Given the description of an element on the screen output the (x, y) to click on. 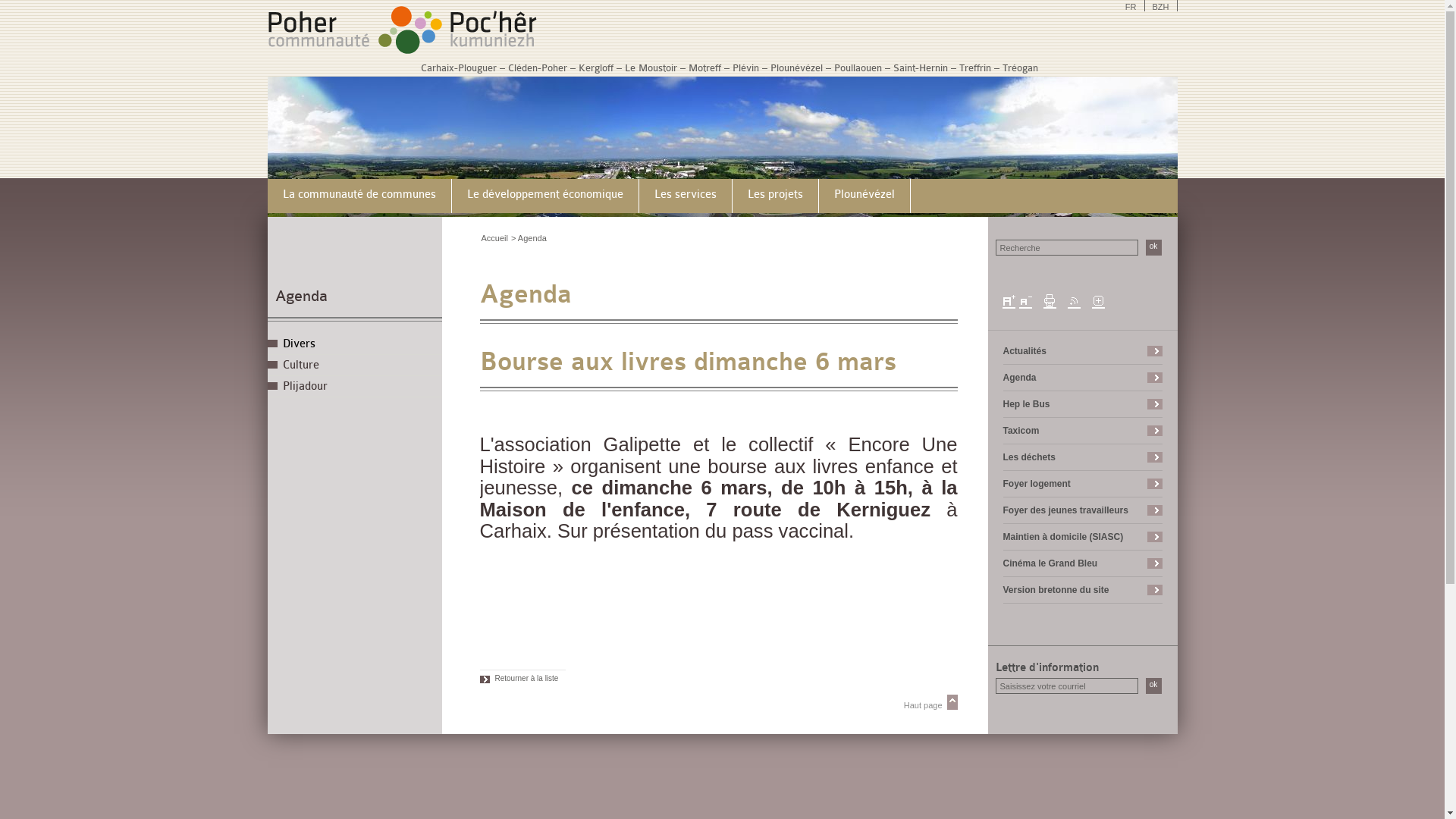
BZH Element type: text (1161, 5)
Recherche Element type: hover (1065, 247)
Saint-Hernin Element type: text (920, 67)
Le Moustoir Element type: text (650, 67)
S'abonner au flux rss Element type: hover (1073, 300)
Saisie Element type: hover (1065, 685)
Kergloff Element type: text (594, 67)
Treffrin Element type: text (974, 67)
Foyer des jeunes travailleurs Element type: text (1064, 510)
ok Element type: text (1153, 685)
Culture Element type: text (353, 364)
Foyer logement Element type: text (1036, 483)
ok Element type: text (1153, 247)
Haut page Element type: text (718, 701)
Les projets Element type: text (775, 197)
Saisissez votre courriel Element type: text (1065, 685)
Agenda Element type: text (300, 295)
Recherche Element type: text (1065, 247)
Les services Element type: text (684, 197)
Poullaouen Element type: text (857, 67)
Hep le Bus Element type: text (1025, 403)
Agenda Element type: text (1018, 377)
> Agenda Element type: text (528, 237)
Motreff Element type: text (704, 67)
imprimer la page Element type: hover (1049, 300)
Divers Element type: text (353, 343)
Version bretonne du site Element type: text (1055, 589)
Carhaix-Plouguer Element type: text (457, 67)
Partager cette information Element type: hover (1098, 300)
FR Element type: text (1131, 5)
Plijadour Element type: text (353, 385)
Accueil Element type: text (493, 237)
Taxicom Element type: text (1020, 430)
